Given the description of an element on the screen output the (x, y) to click on. 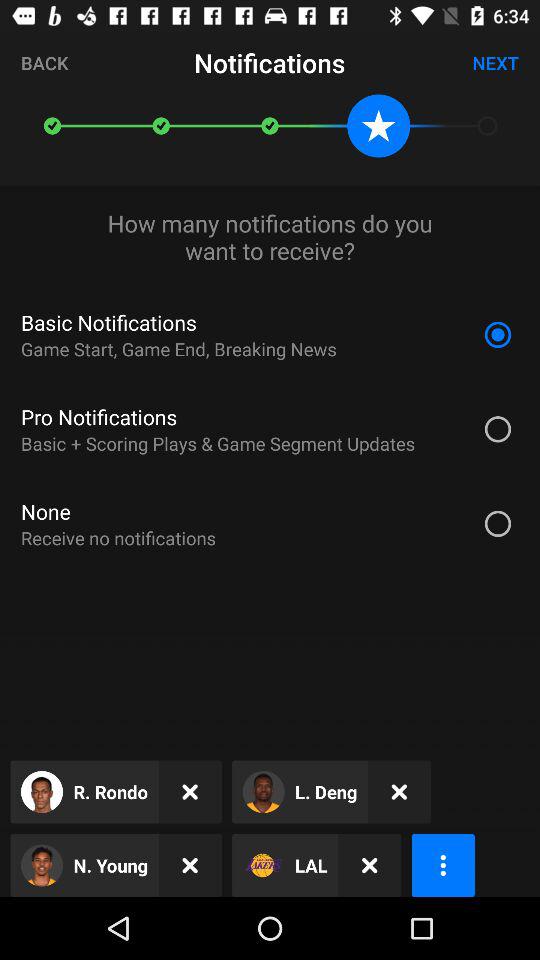
select icon at the top left corner (44, 62)
